Given the description of an element on the screen output the (x, y) to click on. 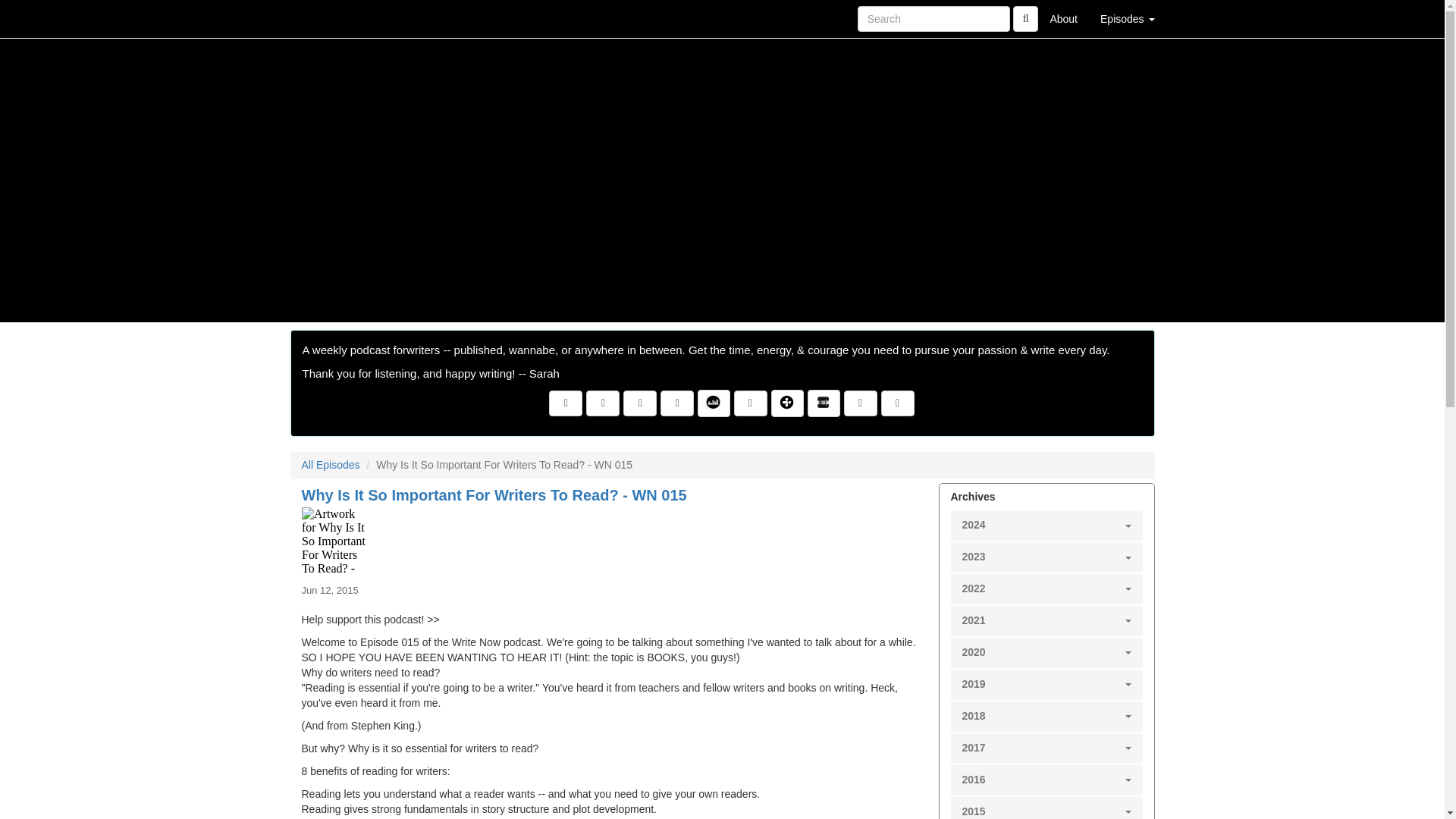
About (1063, 18)
Home Page (320, 18)
Why Is It So Important For Writers To Read? - WN 015 (614, 540)
Episodes (1127, 18)
